Given the description of an element on the screen output the (x, y) to click on. 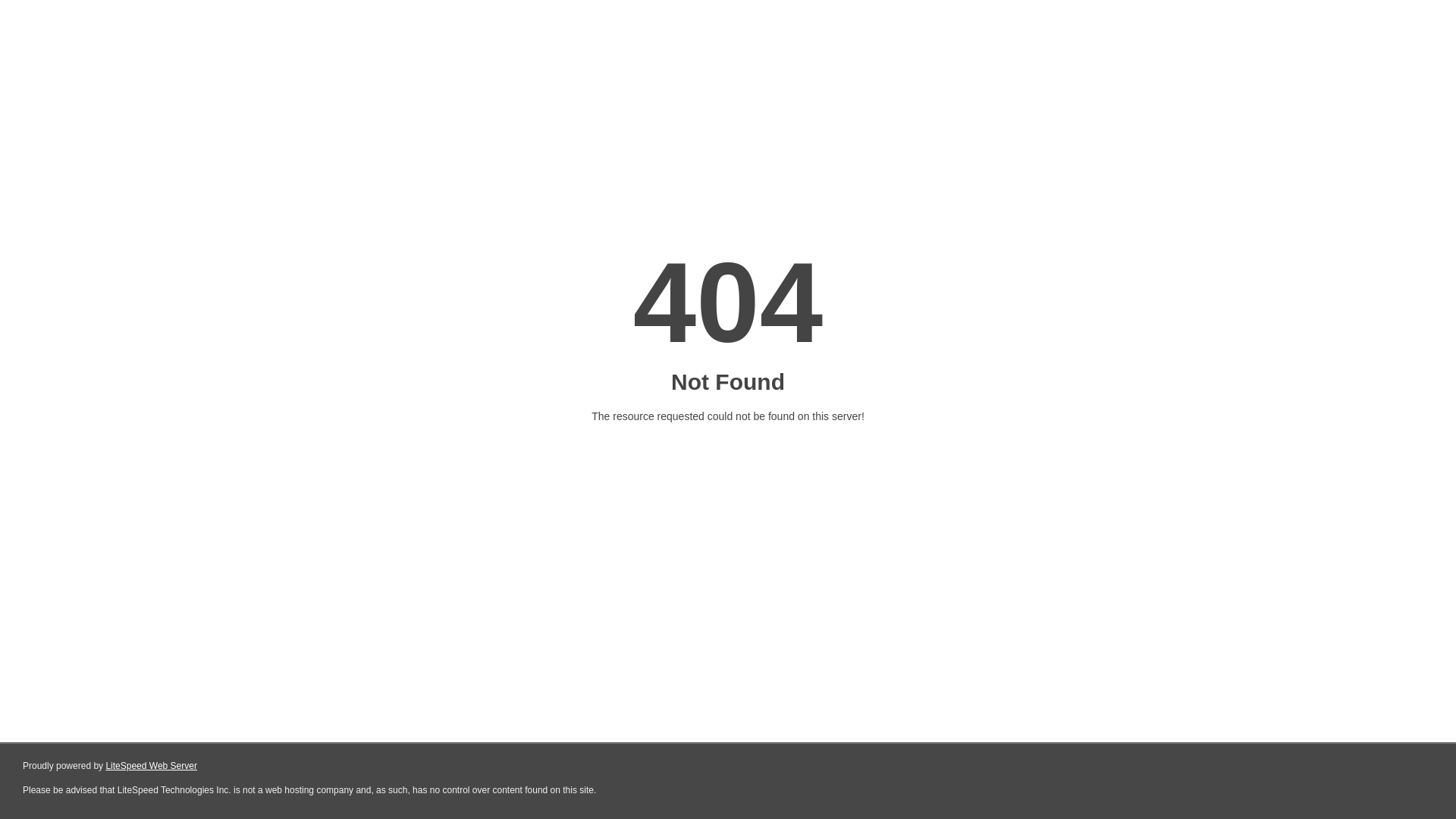
LiteSpeed Web Server Element type: text (151, 765)
